Given the description of an element on the screen output the (x, y) to click on. 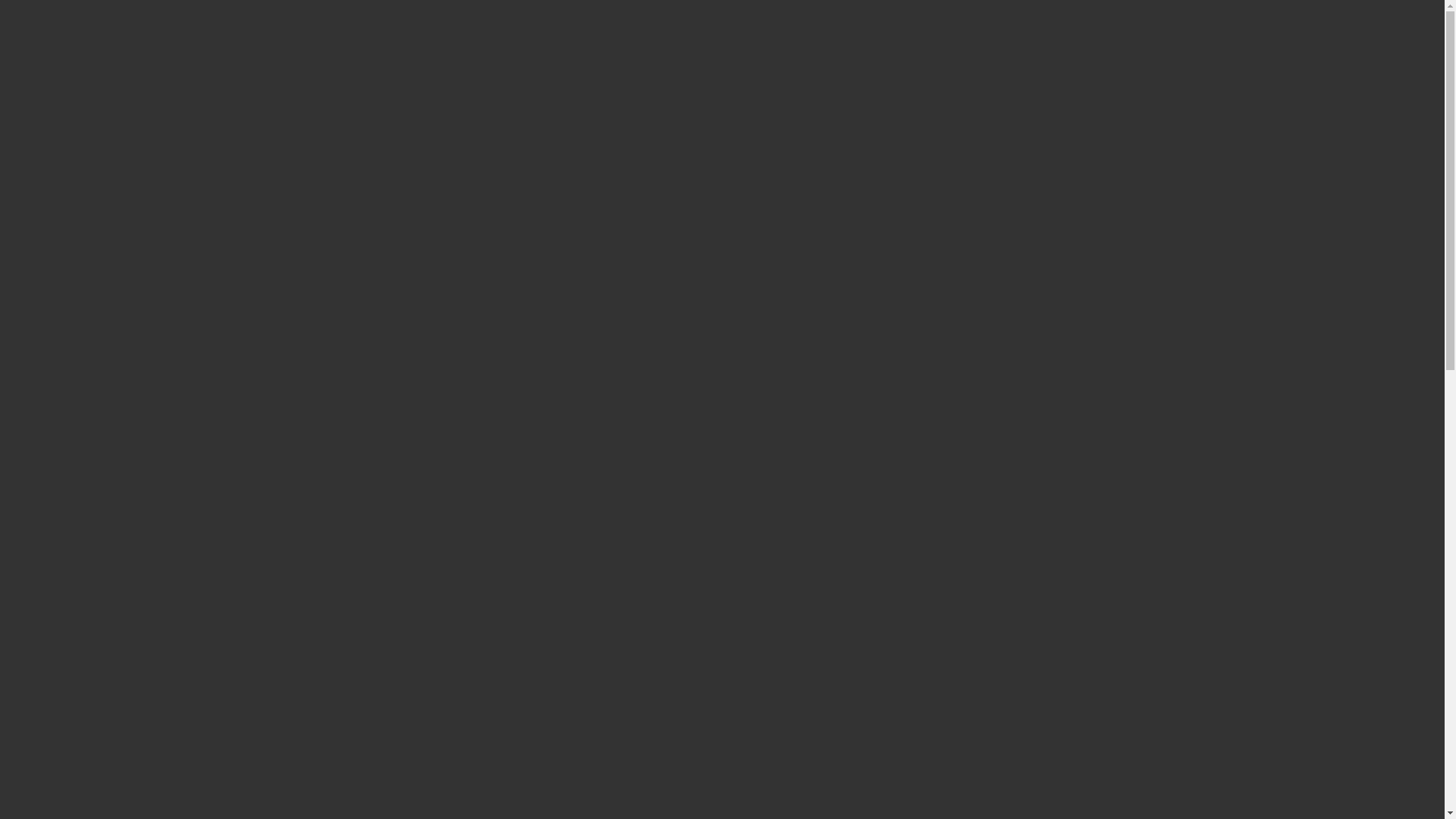
Helfer:in Element type: text (52, 272)
Hausbesuche Element type: text (62, 258)
Verein Element type: text (46, 244)
Anmeldung Element type: text (28, 668)
Home Element type: text (44, 230)
